Given the description of an element on the screen output the (x, y) to click on. 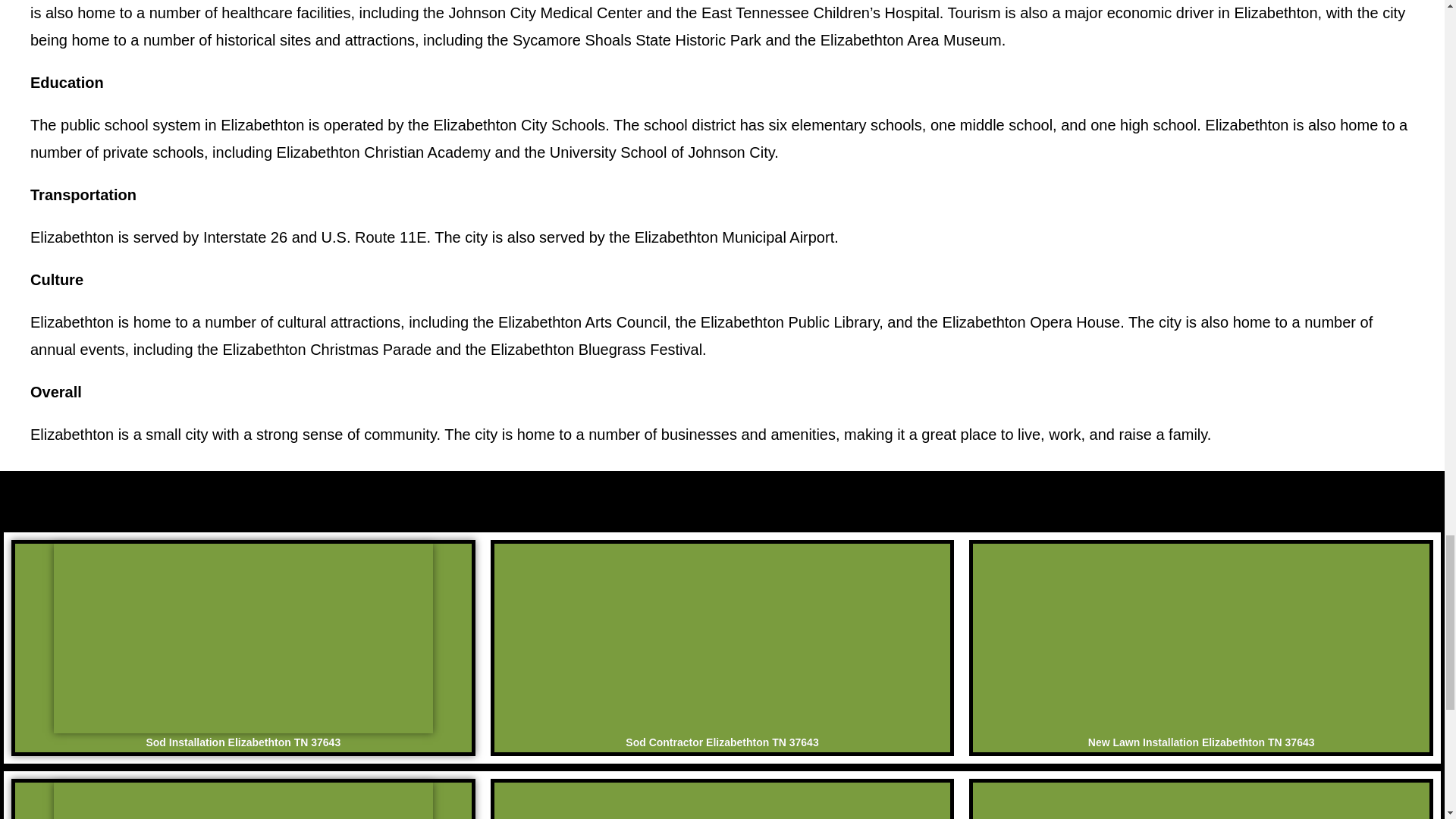
Sod Installation, Sod Installer, Sod Company, Sod Contractor (721, 638)
Sod Installation, Sod Contractor, New Lawn Installation (721, 800)
Sod Installation, Sod Contractor, New Lawn Installation (1200, 800)
Sod Installation (1200, 638)
Sod Installation, Sod Contractor, New Lawn Installation (242, 638)
Sod Installation, Sod Contractor, New Lawn Installation (242, 800)
